Given the description of an element on the screen output the (x, y) to click on. 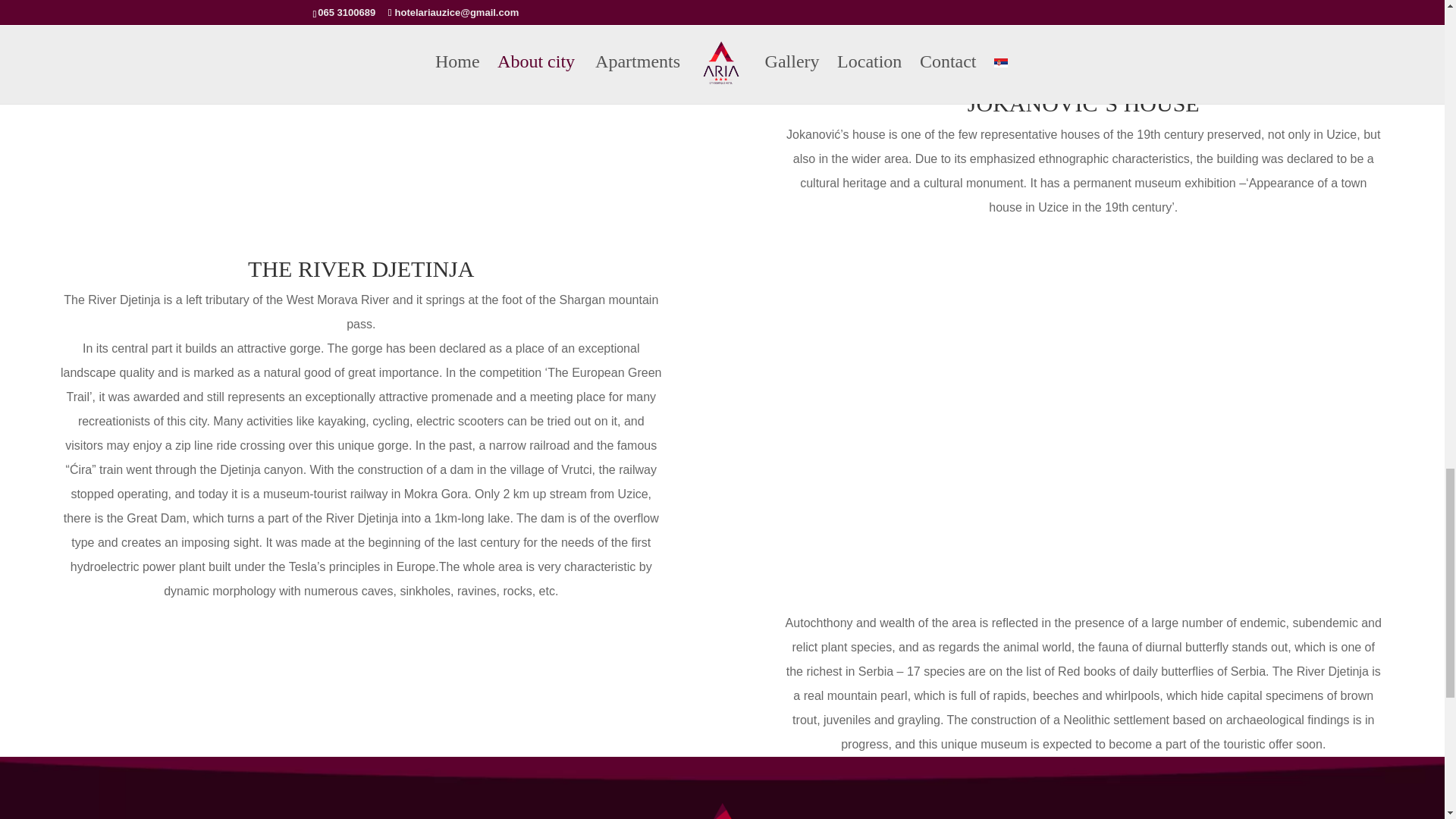
logo-pozitiv (721, 795)
